Given the description of an element on the screen output the (x, y) to click on. 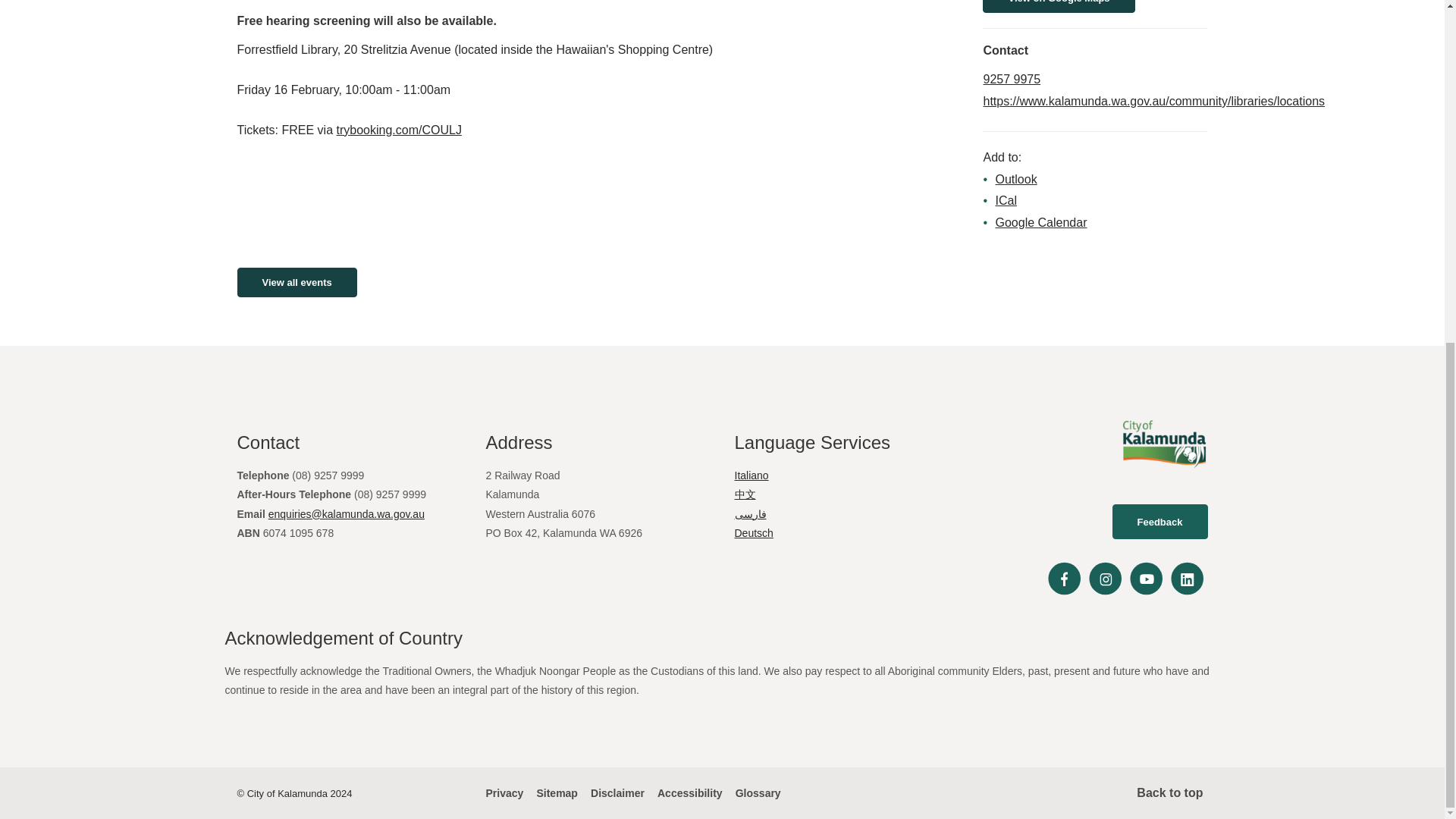
Opens in a new tab (1153, 101)
